Given the description of an element on the screen output the (x, y) to click on. 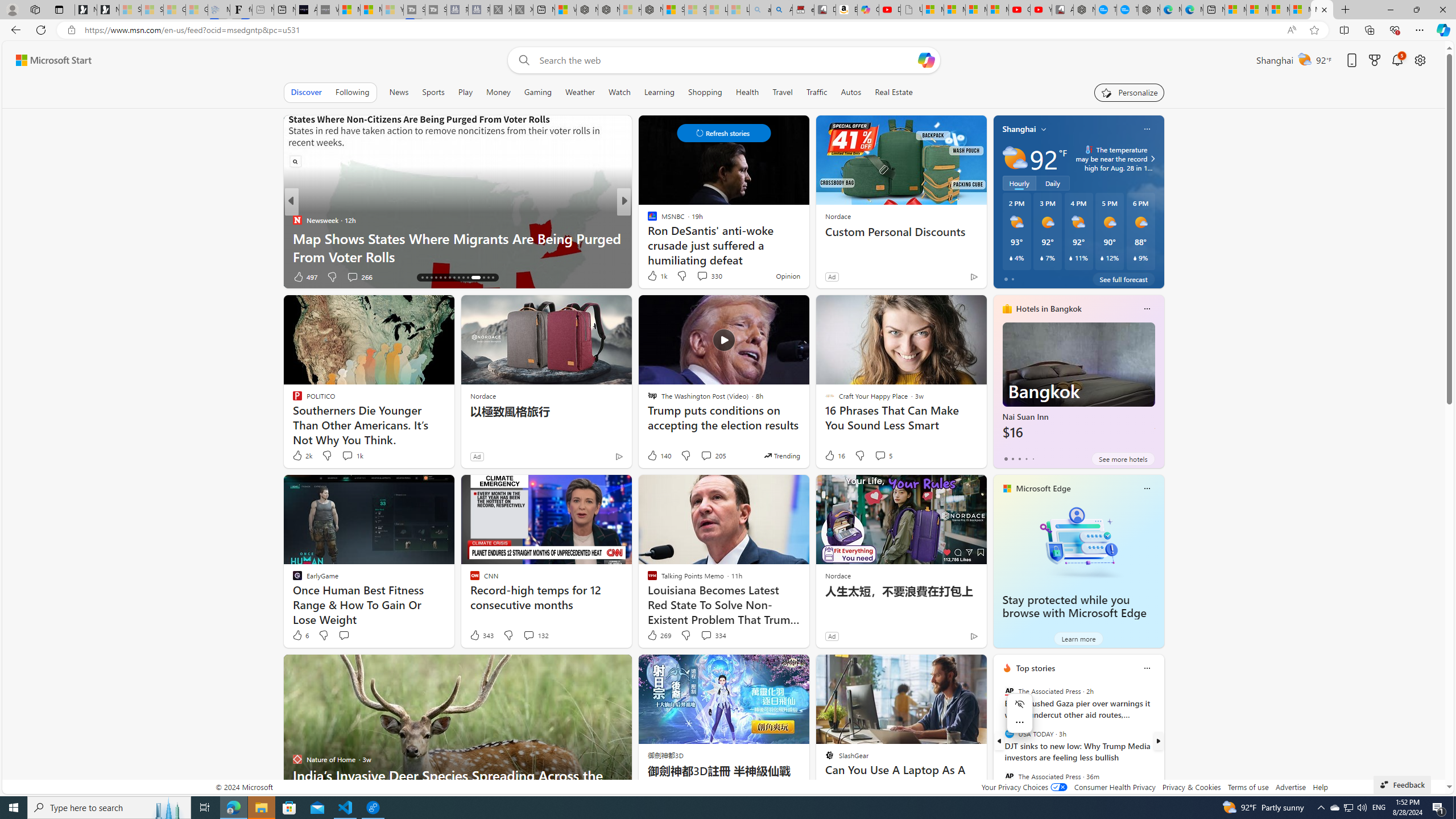
16 Like (834, 455)
Gaming (537, 92)
View comments 353 Comment (6, 276)
Consumer Health Privacy (1115, 786)
What's the best AI voice generator? - voice.ai - Sleeping (327, 9)
Hourly (1018, 183)
View comments 205 Comment (712, 455)
Weather (579, 92)
Autos (851, 92)
Class: weather-current-precipitation-glyph (1134, 257)
